Given the description of an element on the screen output the (x, y) to click on. 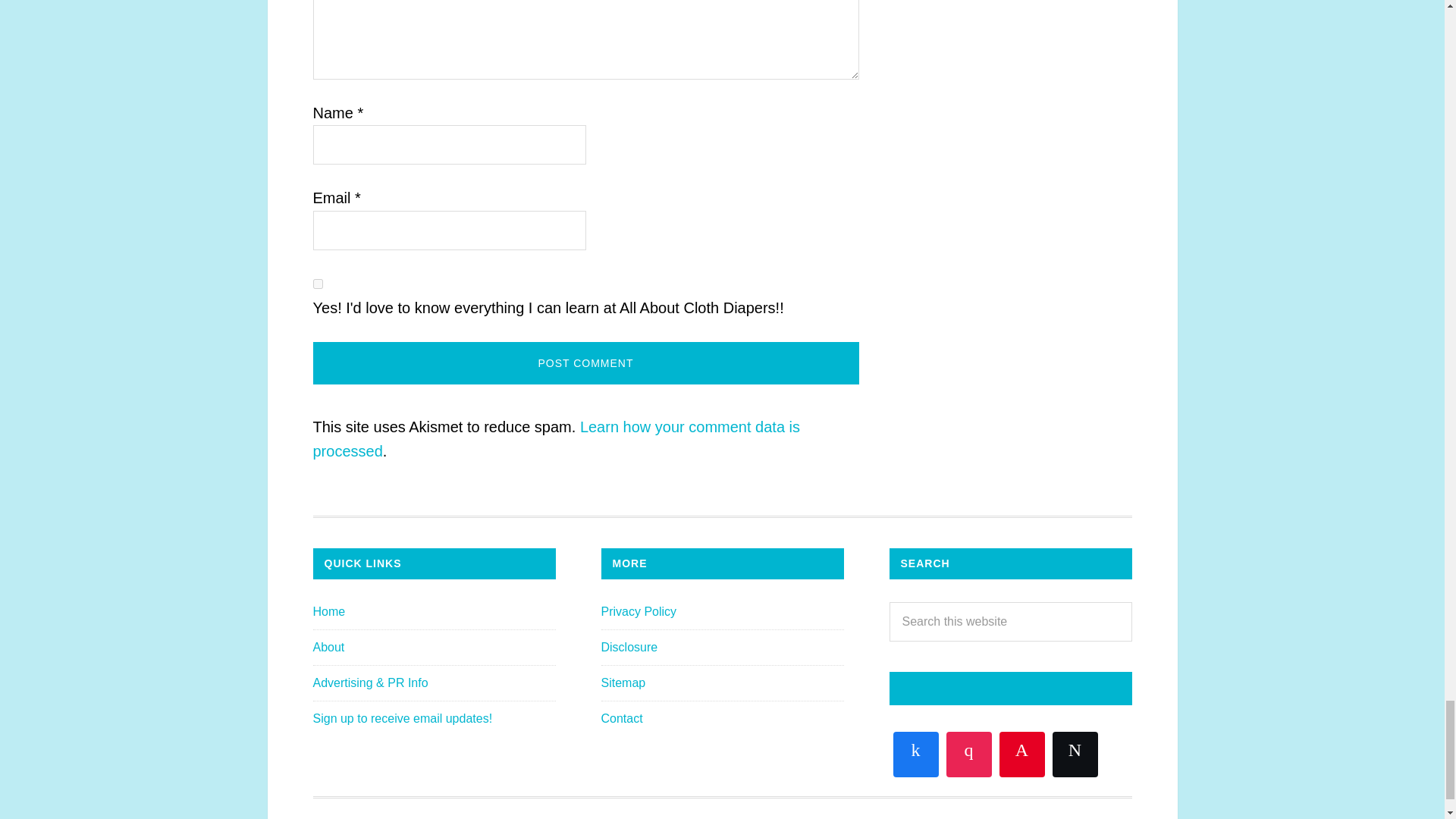
yes (317, 284)
Post Comment (586, 363)
